Given the description of an element on the screen output the (x, y) to click on. 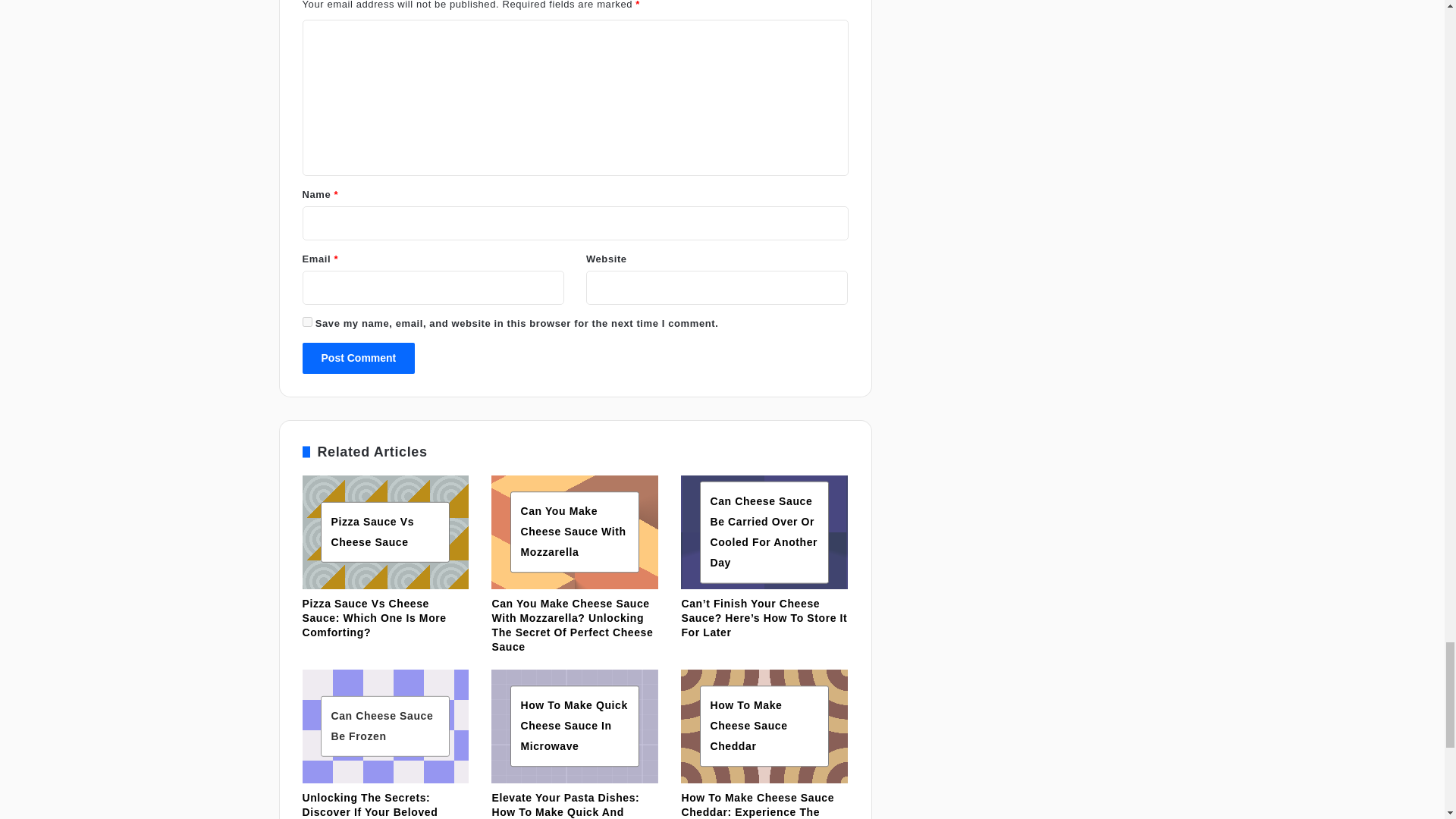
yes (306, 321)
Post Comment (357, 358)
